Given the description of an element on the screen output the (x, y) to click on. 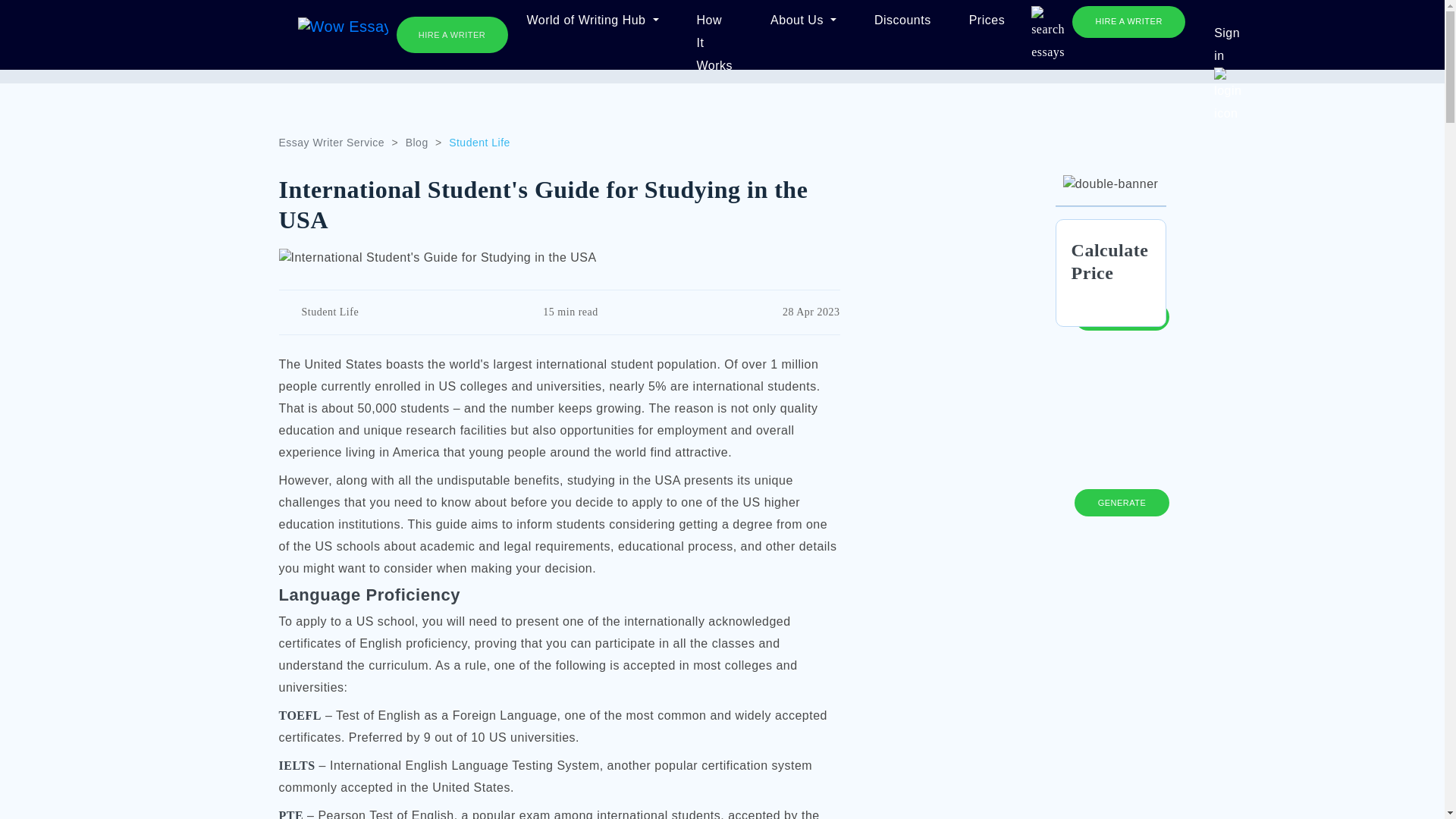
HIRE A WRITER (1128, 21)
HIRE A WRITER (451, 34)
Sign in (1227, 34)
World of Writing Hub (591, 21)
Blog (417, 142)
Essay Writer Service (332, 142)
How It Works (714, 21)
Student Life (479, 142)
Essay Writer Service (332, 142)
Discounts (902, 21)
Student Life (479, 142)
About Us (803, 21)
Blog (417, 142)
Student Life (330, 312)
Prices (986, 21)
